Given the description of an element on the screen output the (x, y) to click on. 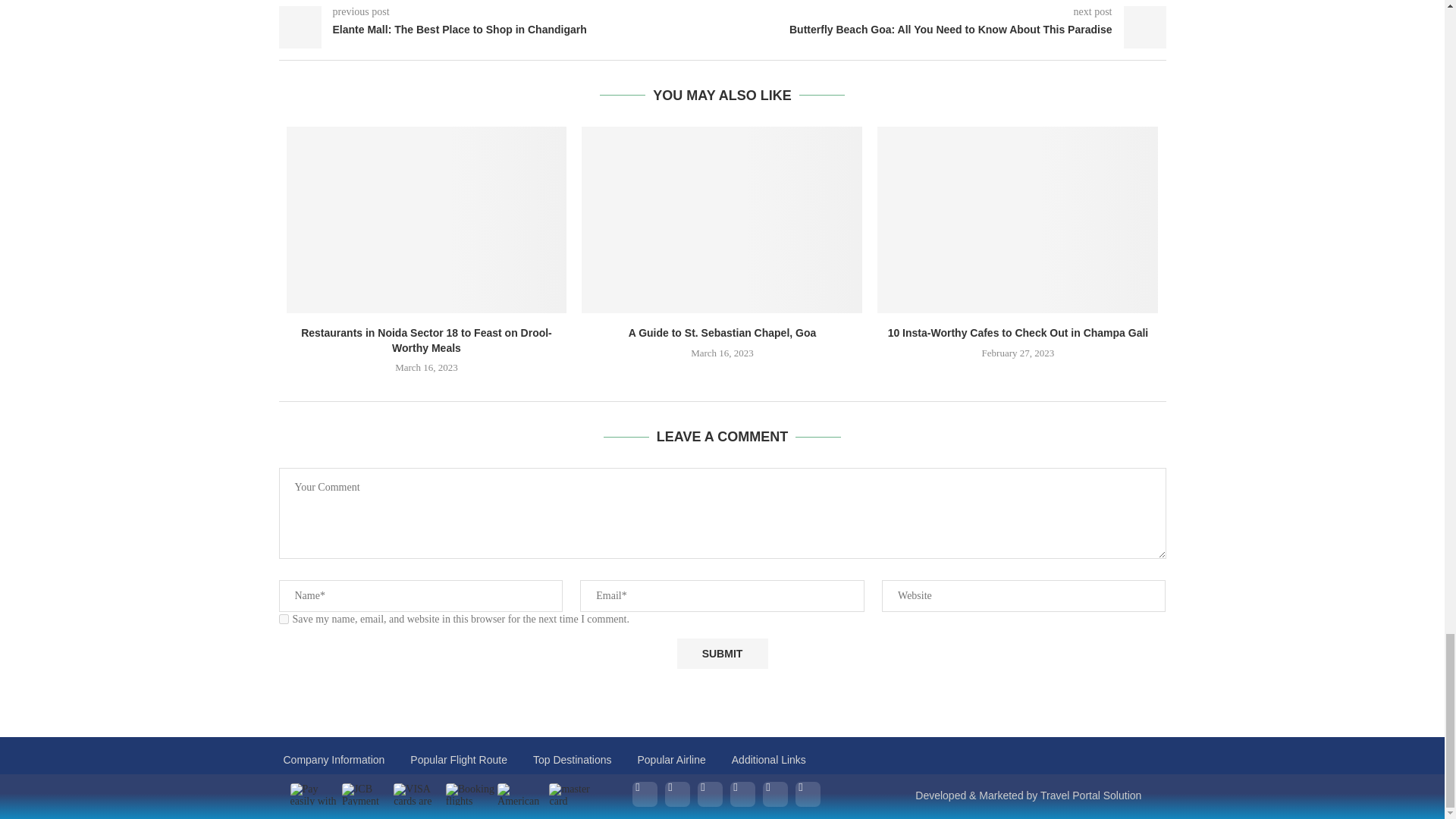
10 Insta-Worthy Cafes to Check Out in Champa Gali (1018, 332)
VISA Payment Gateway - Lowest Flight Fares (419, 793)
10 Insta-Worthy Cafes to Check Out in Champa Gali (1017, 219)
Submit (722, 653)
Diner Club Payment Gateway - Lowest Flight Fares (314, 793)
yes (283, 619)
A Guide to St. Sebastian Chapel, Goa (722, 332)
A Guide to St. Sebastian Chapel, Goa (720, 219)
Elante Mall: The Best Place to Shop in Chandigarh (500, 29)
